Given the description of an element on the screen output the (x, y) to click on. 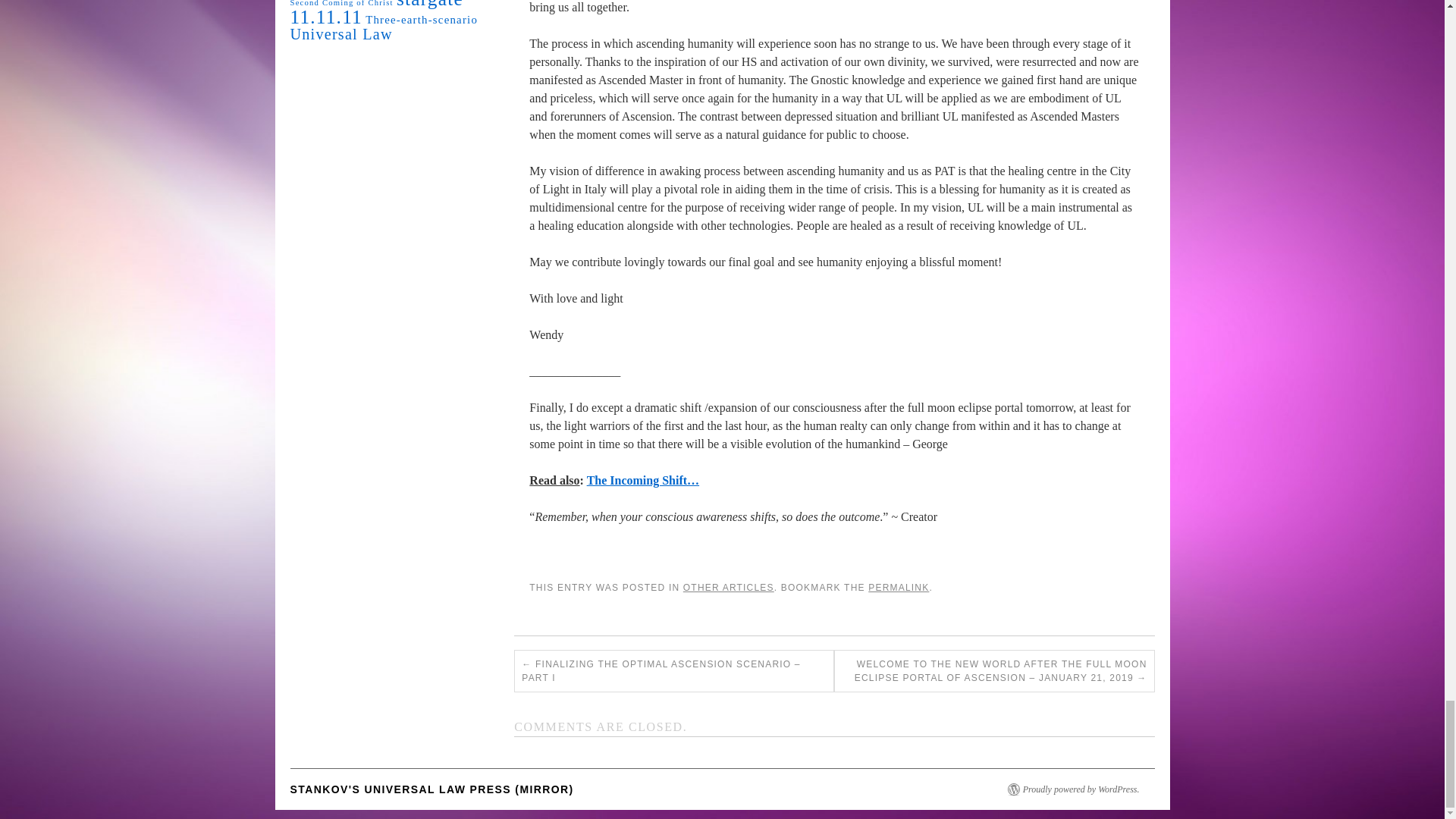
OTHER ARTICLES (728, 587)
PERMALINK (897, 587)
Semantic Personal Publishing Platform (1080, 788)
